Given the description of an element on the screen output the (x, y) to click on. 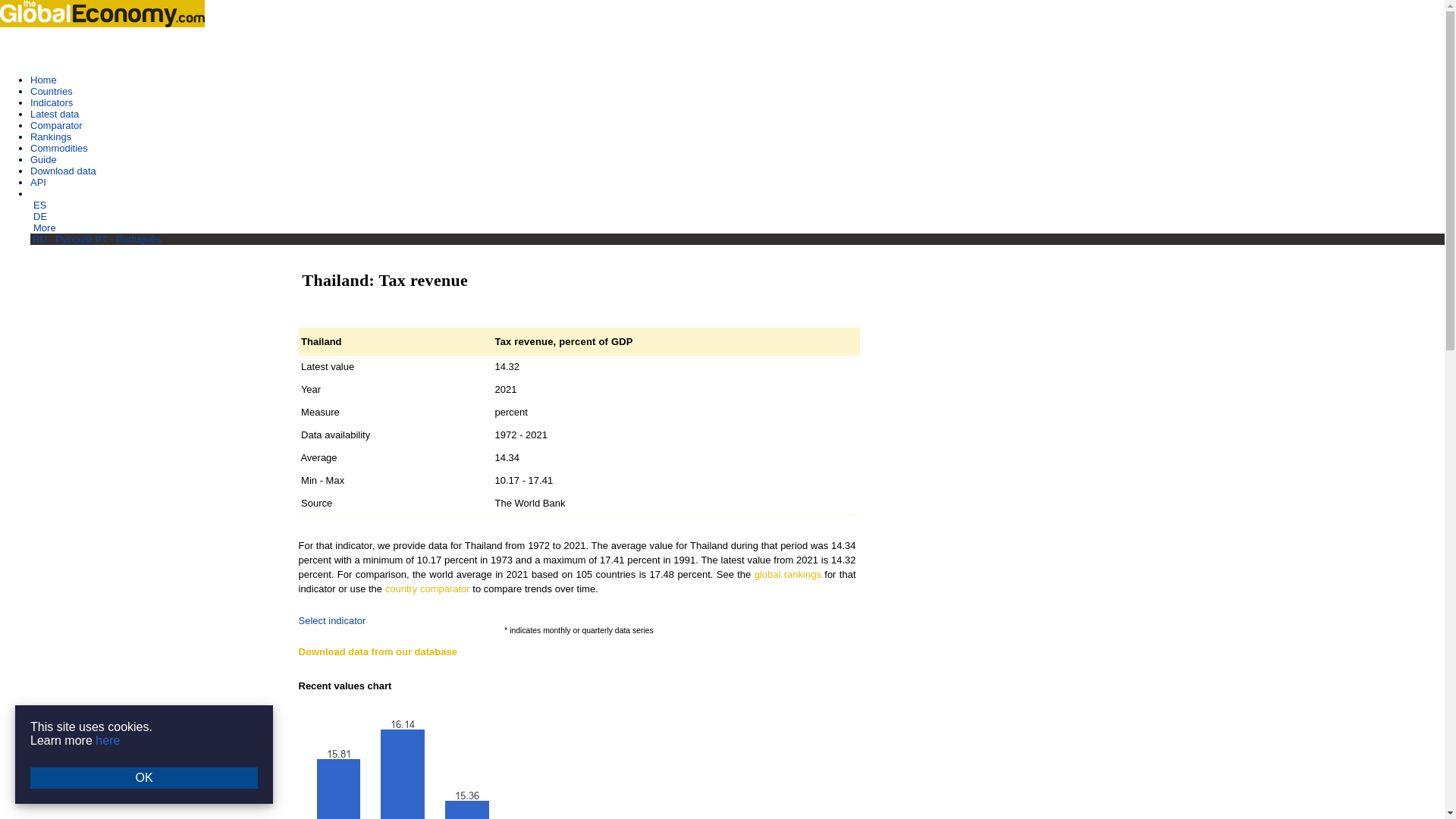
Latest data (54, 113)
EN (38, 193)
Comparator (56, 125)
Download data (63, 170)
country comparator (427, 588)
Rankings (50, 136)
More (44, 227)
DE (39, 215)
global rankings (787, 573)
Guide (43, 159)
Home (43, 79)
API (38, 182)
Download data from our database (377, 651)
Indicators (51, 102)
Select indicator (332, 620)
